Given the description of an element on the screen output the (x, y) to click on. 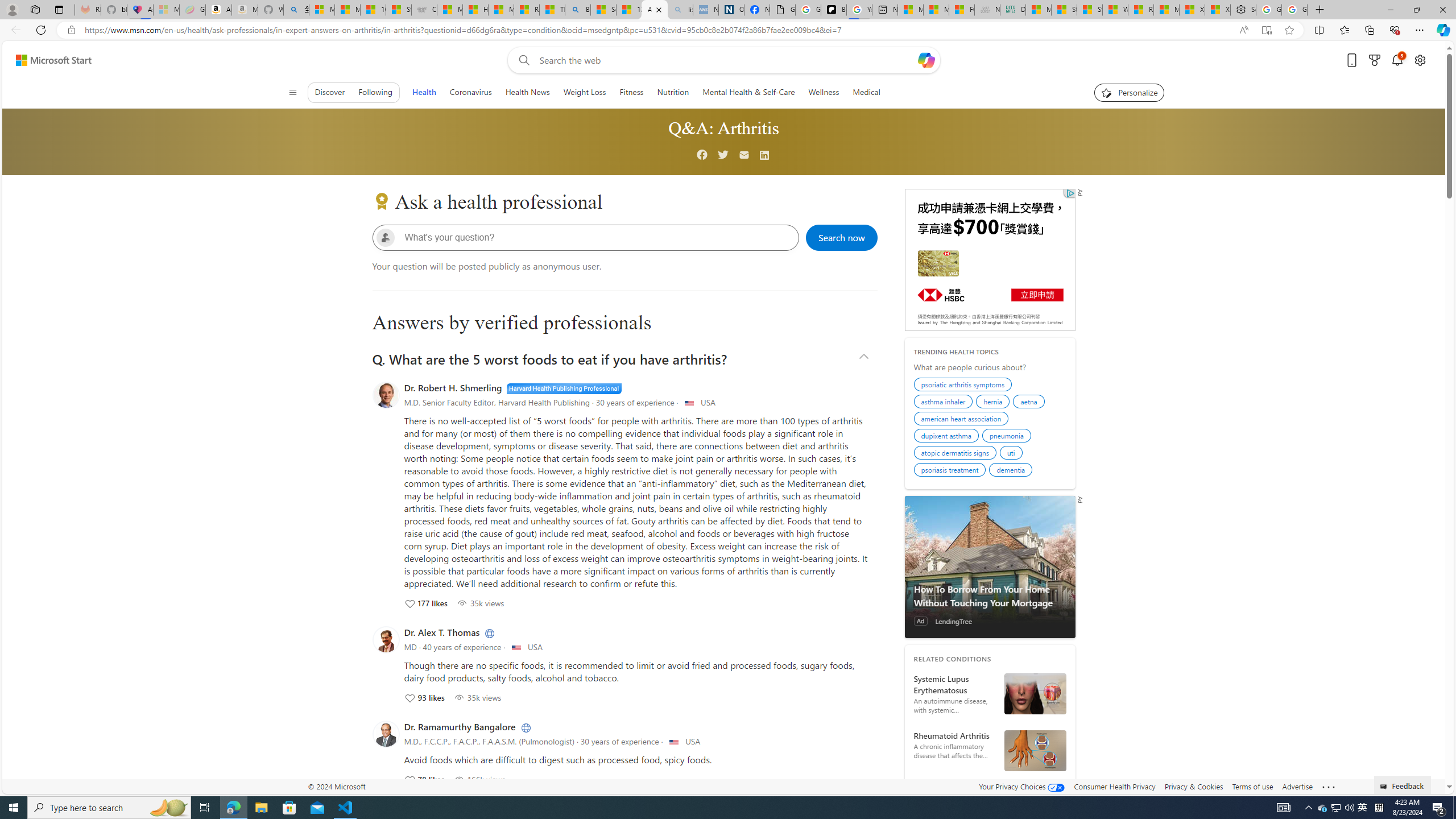
R******* | Trusted Community Engagement and Contributions (1140, 9)
Asthma Inhalers: Names and Types (140, 9)
FOX News - MSN (961, 9)
Twitter (722, 155)
Wellness (822, 92)
